Given the description of an element on the screen output the (x, y) to click on. 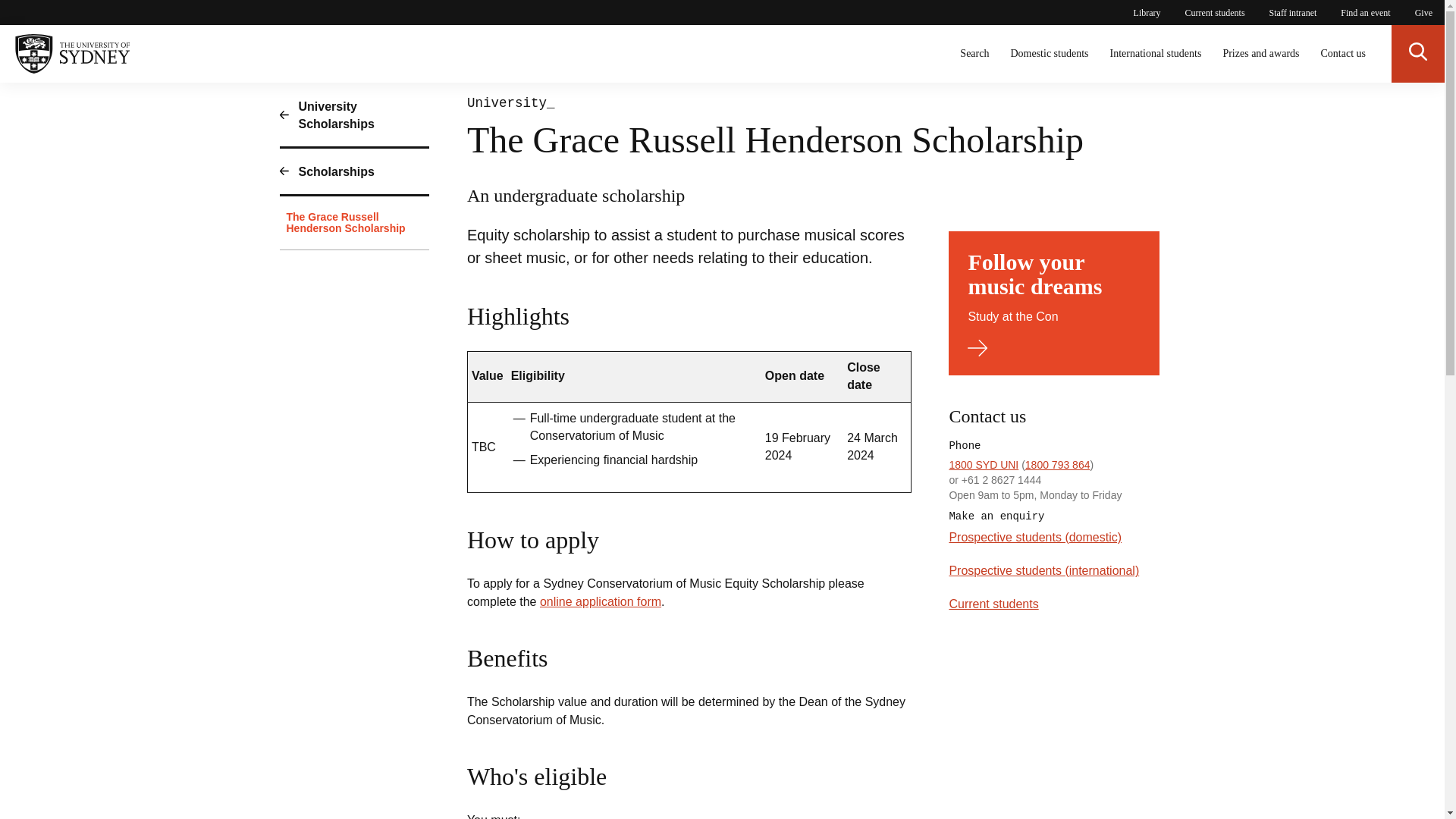
Current students (1214, 12)
Give (1423, 12)
Domestic students (1048, 53)
Library (1147, 12)
Current students (993, 603)
The Grace Russell Henderson Scholarship (354, 222)
Find an event (1365, 12)
online application form (1053, 302)
University Scholarships (600, 601)
